Given the description of an element on the screen output the (x, y) to click on. 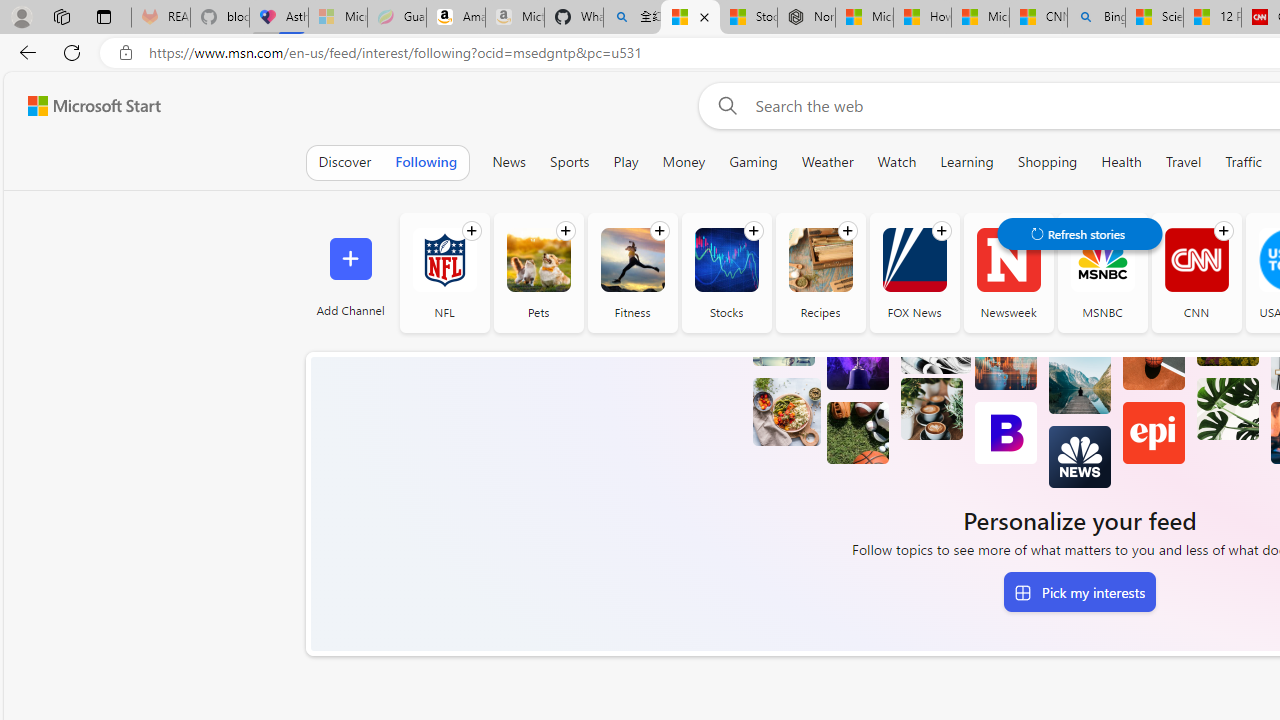
Newsweek (1007, 260)
Health (1121, 161)
Recipes (820, 272)
Weather (827, 161)
Gaming (752, 162)
Learning (966, 161)
Watch (897, 161)
12 Popular Science Lies that Must be Corrected (1212, 17)
Skip to footer (82, 105)
Shopping (1047, 162)
NFL (444, 260)
